Given the description of an element on the screen output the (x, y) to click on. 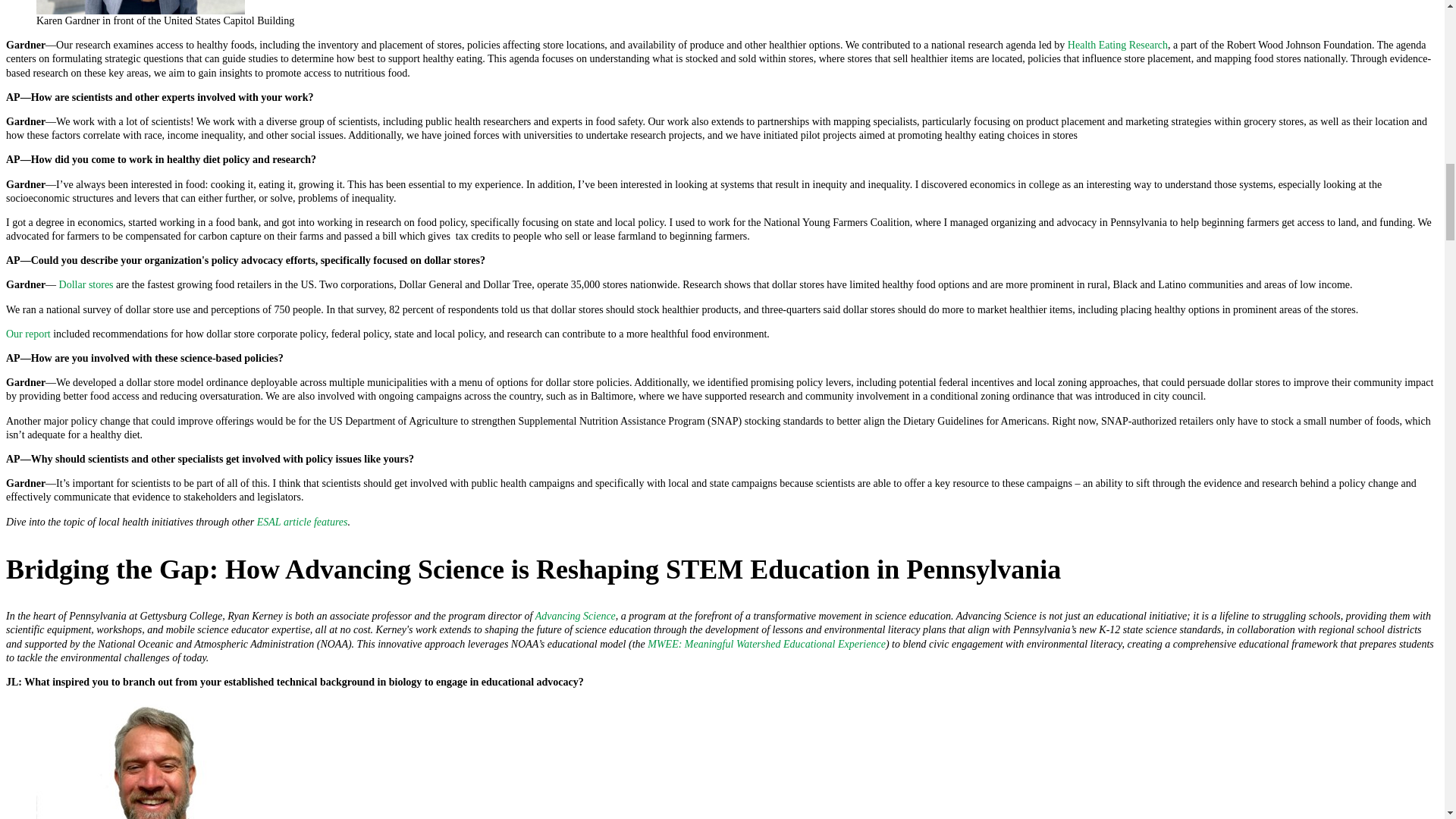
MWEE: Meaningful Watershed Educational Experience (766, 644)
Advancing Science (575, 615)
Health Eating Research (1117, 44)
Dollar stores (86, 284)
Our report (27, 333)
ESAL article features (302, 521)
